Given the description of an element on the screen output the (x, y) to click on. 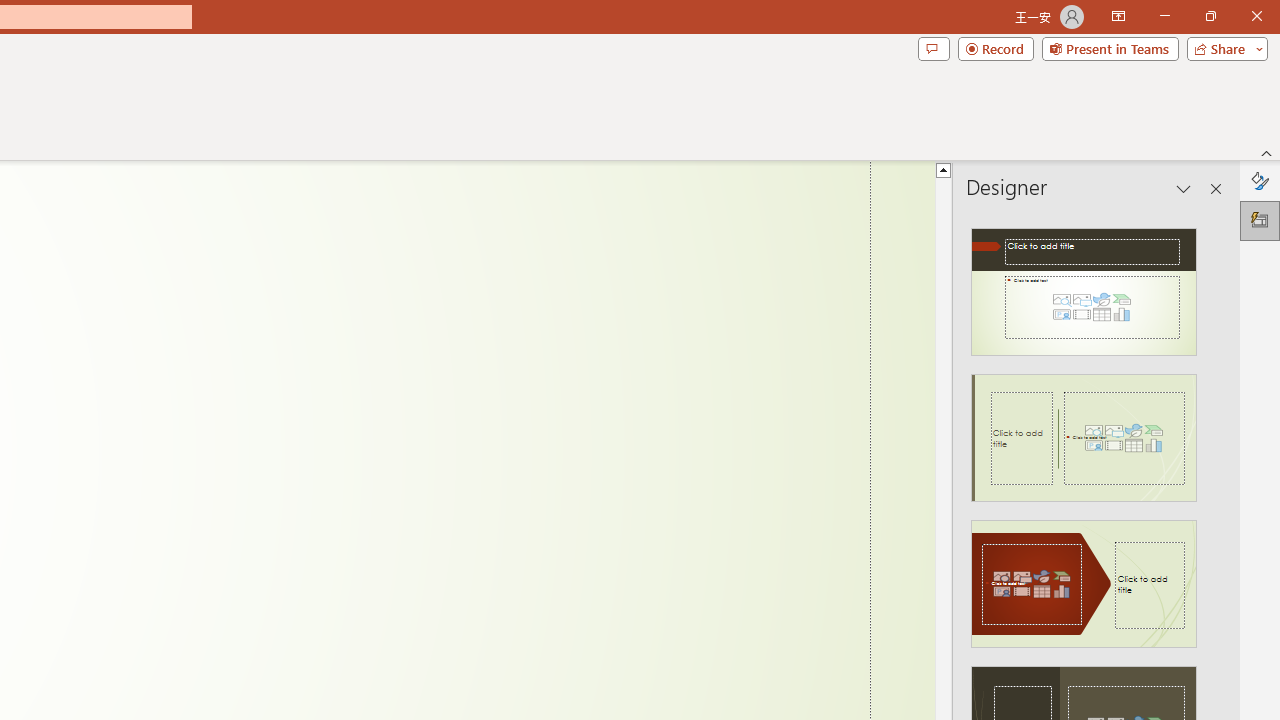
Format Background (1260, 180)
Recommended Design: Design Idea (1083, 286)
